Given the description of an element on the screen output the (x, y) to click on. 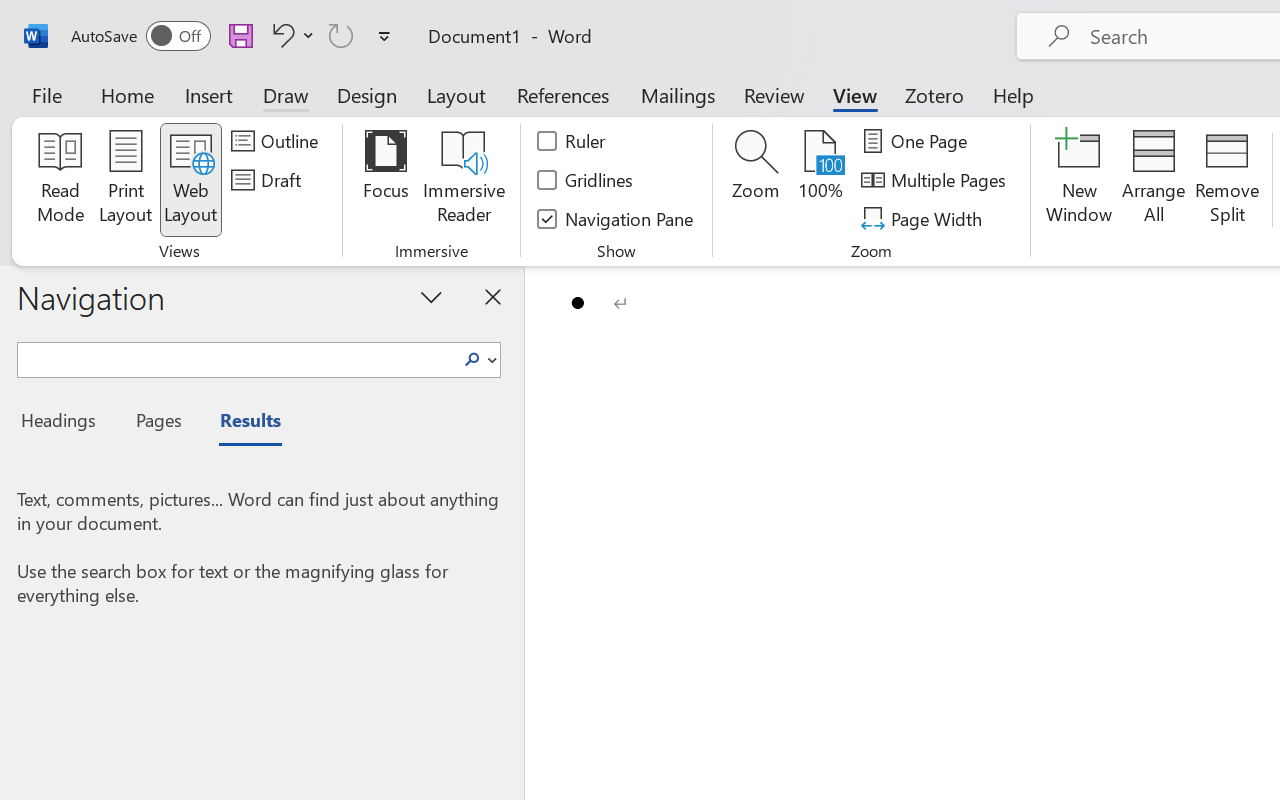
Undo Bullet Default (290, 35)
Page Width (924, 218)
Gridlines (586, 179)
One Page (917, 141)
